Given the description of an element on the screen output the (x, y) to click on. 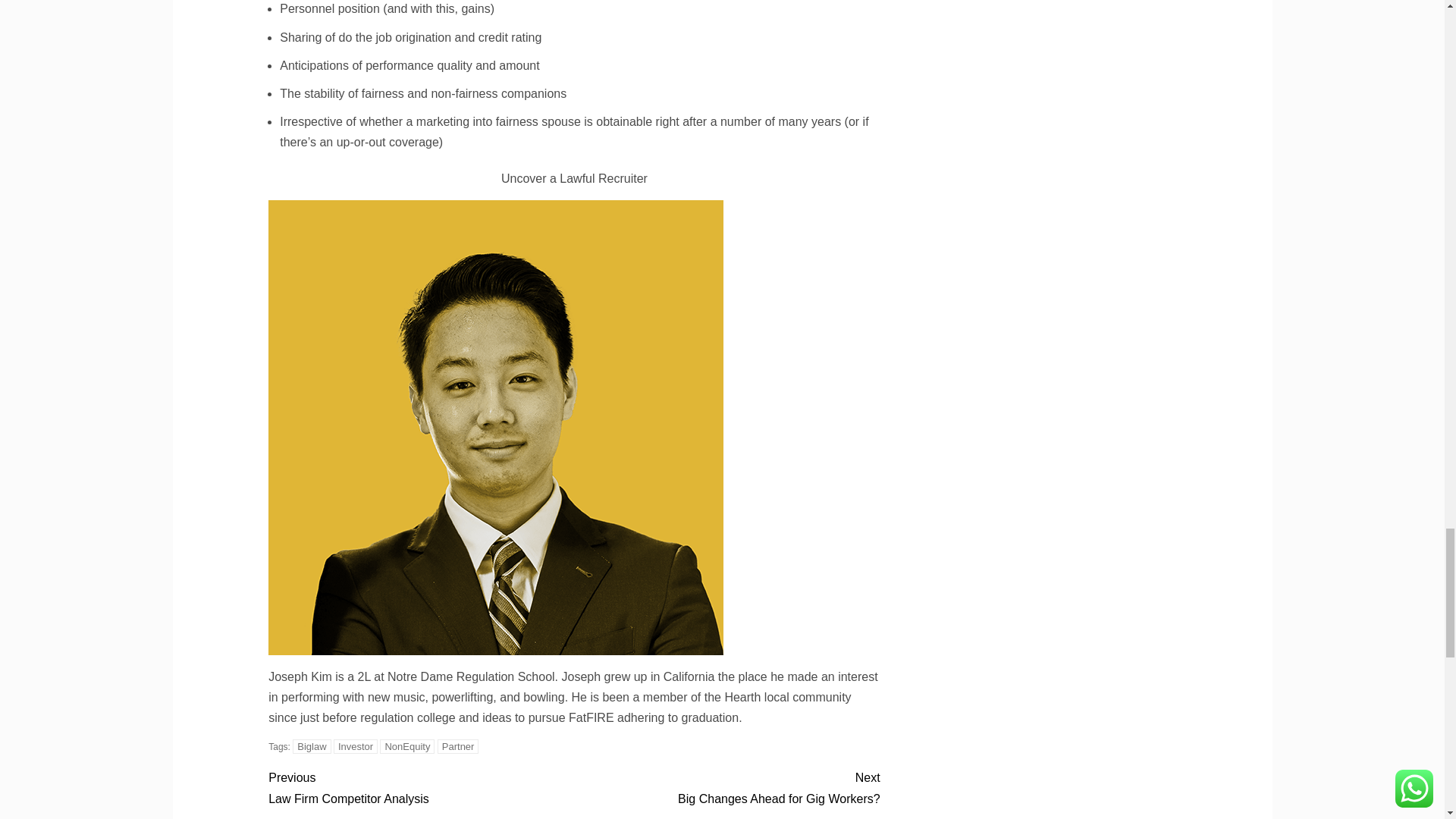
Investor (355, 746)
Biglaw (311, 746)
